Given the description of an element on the screen output the (x, y) to click on. 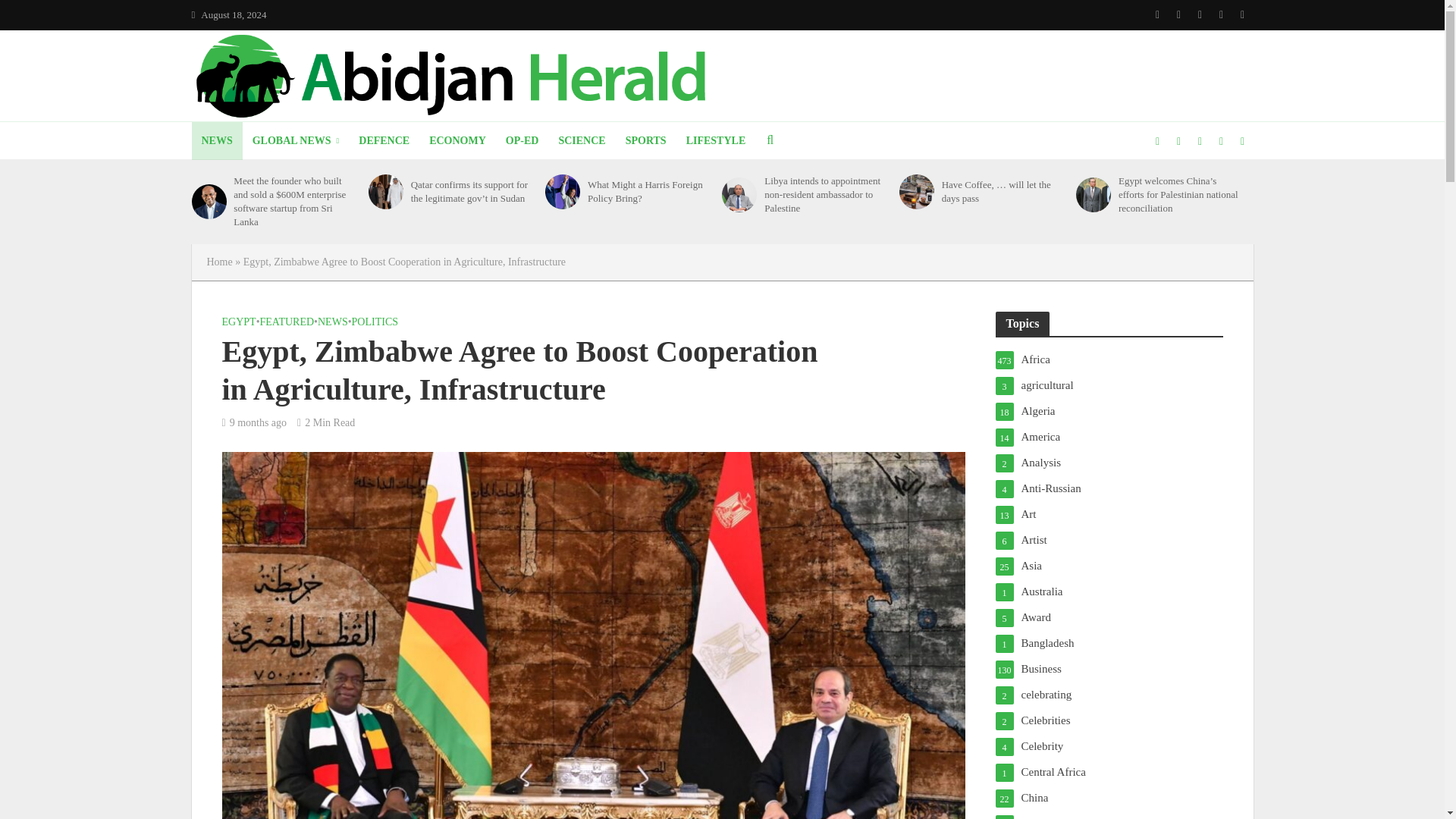
NEWS (215, 140)
What Might a Harris Foreign Policy Bring? (561, 191)
GLOBAL NEWS (296, 140)
